Given the description of an element on the screen output the (x, y) to click on. 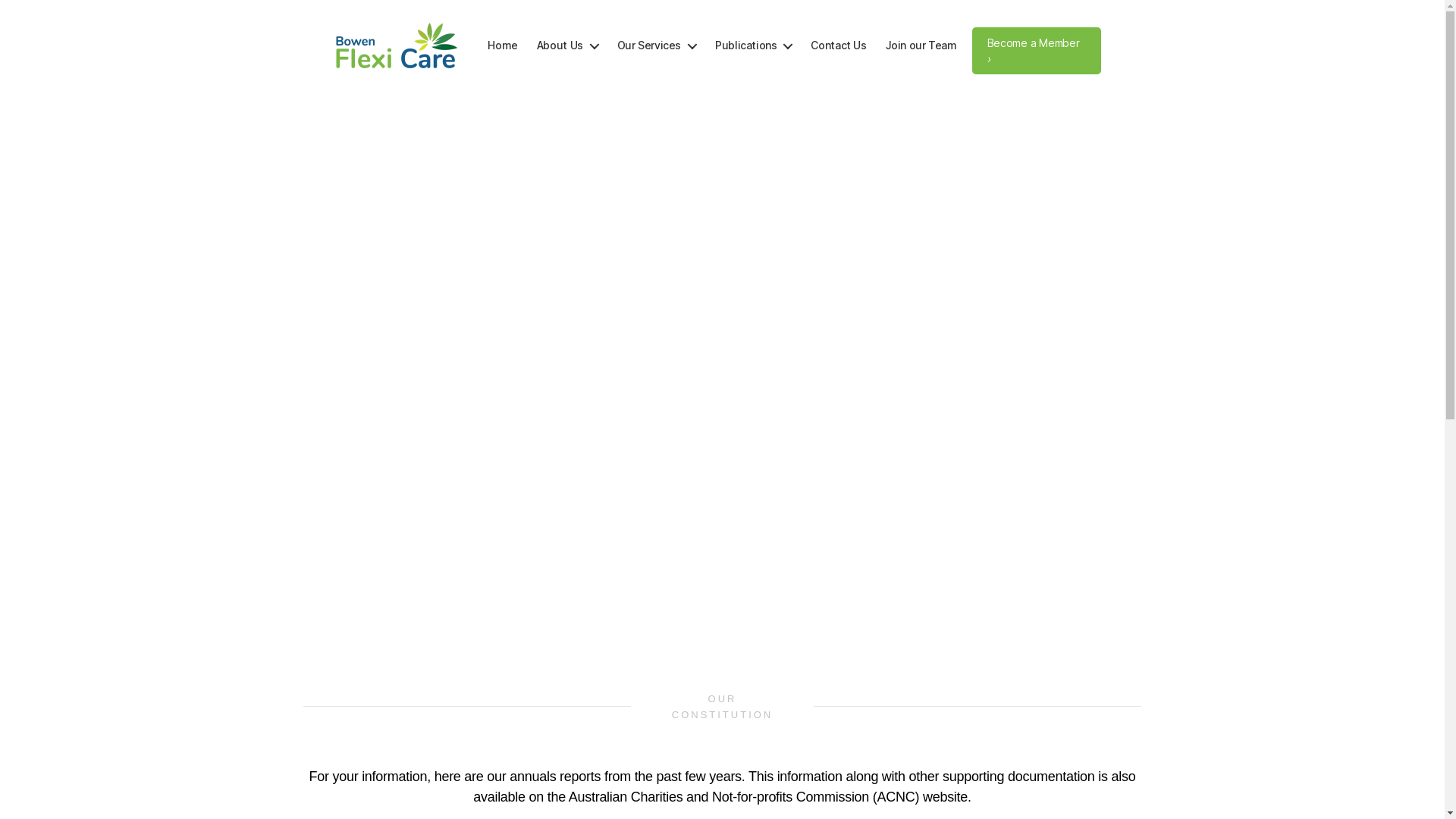
Become a Member Element type: text (1036, 50)
Our Services Element type: text (656, 45)
Home Element type: text (502, 45)
About Us Element type: text (567, 45)
Publications Element type: text (753, 45)
Join our Team Element type: text (921, 45)
Contact Us Element type: text (838, 45)
